Given the description of an element on the screen output the (x, y) to click on. 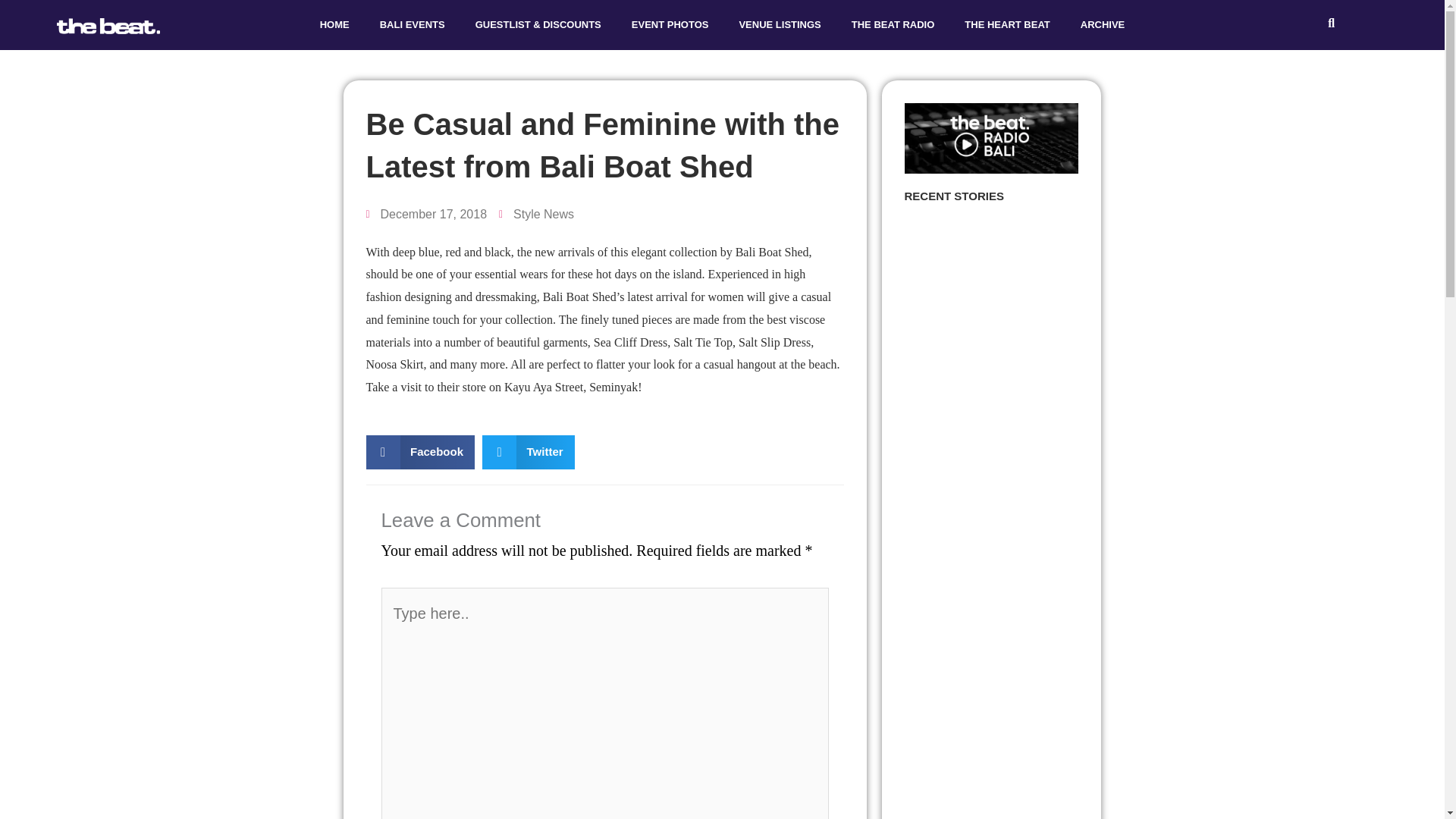
THE HEART BEAT (1006, 24)
VENUE LISTINGS (779, 24)
ARCHIVE (1102, 24)
THE BEAT RADIO (892, 24)
HOME (334, 24)
EVENT PHOTOS (669, 24)
BALI EVENTS (412, 24)
